Given the description of an element on the screen output the (x, y) to click on. 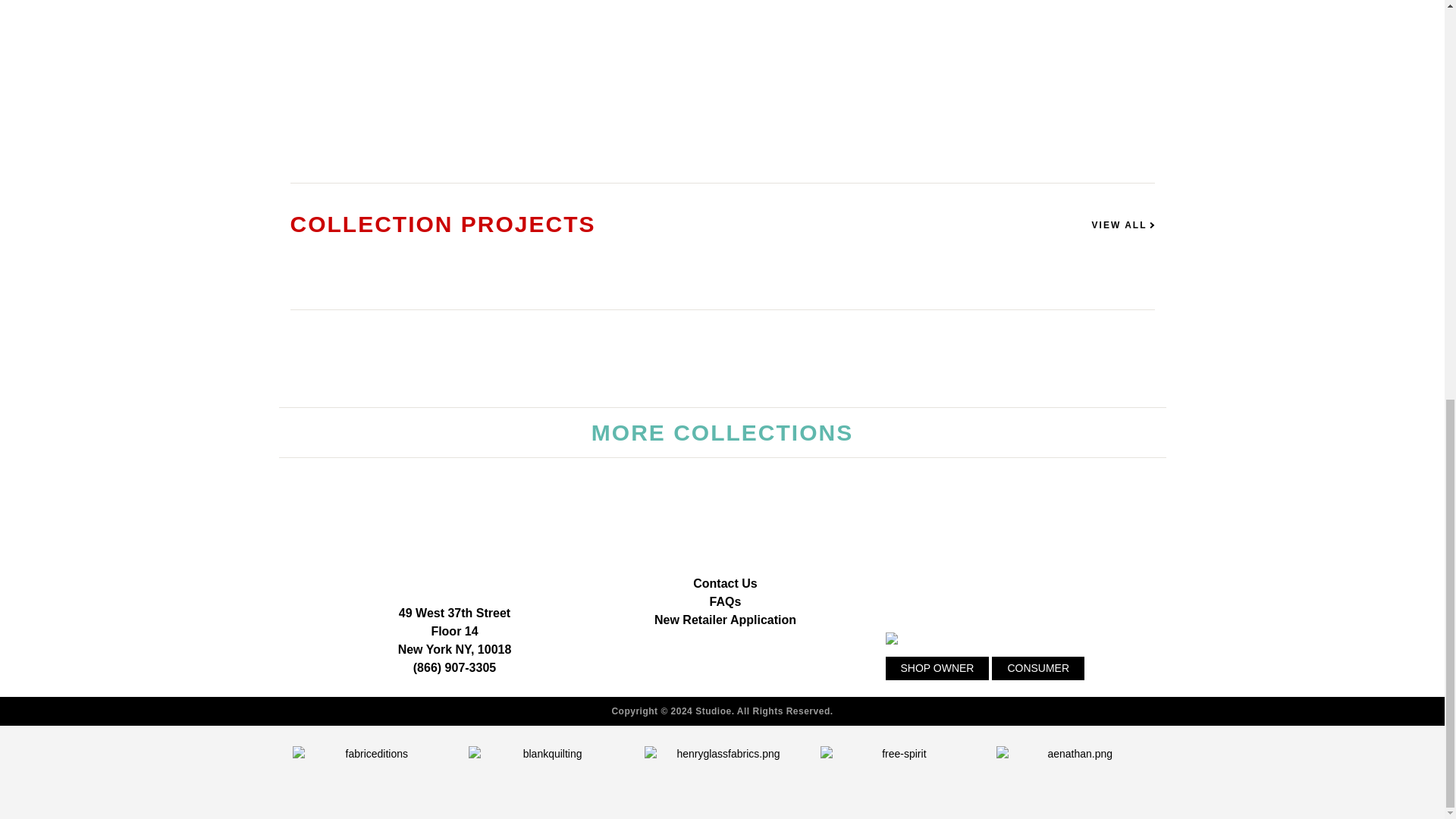
free-spirit (898, 771)
blankquilting (546, 771)
fabriceditions (370, 771)
henryglassfabrics.png (722, 771)
aenathan.png (1073, 771)
